Given the description of an element on the screen output the (x, y) to click on. 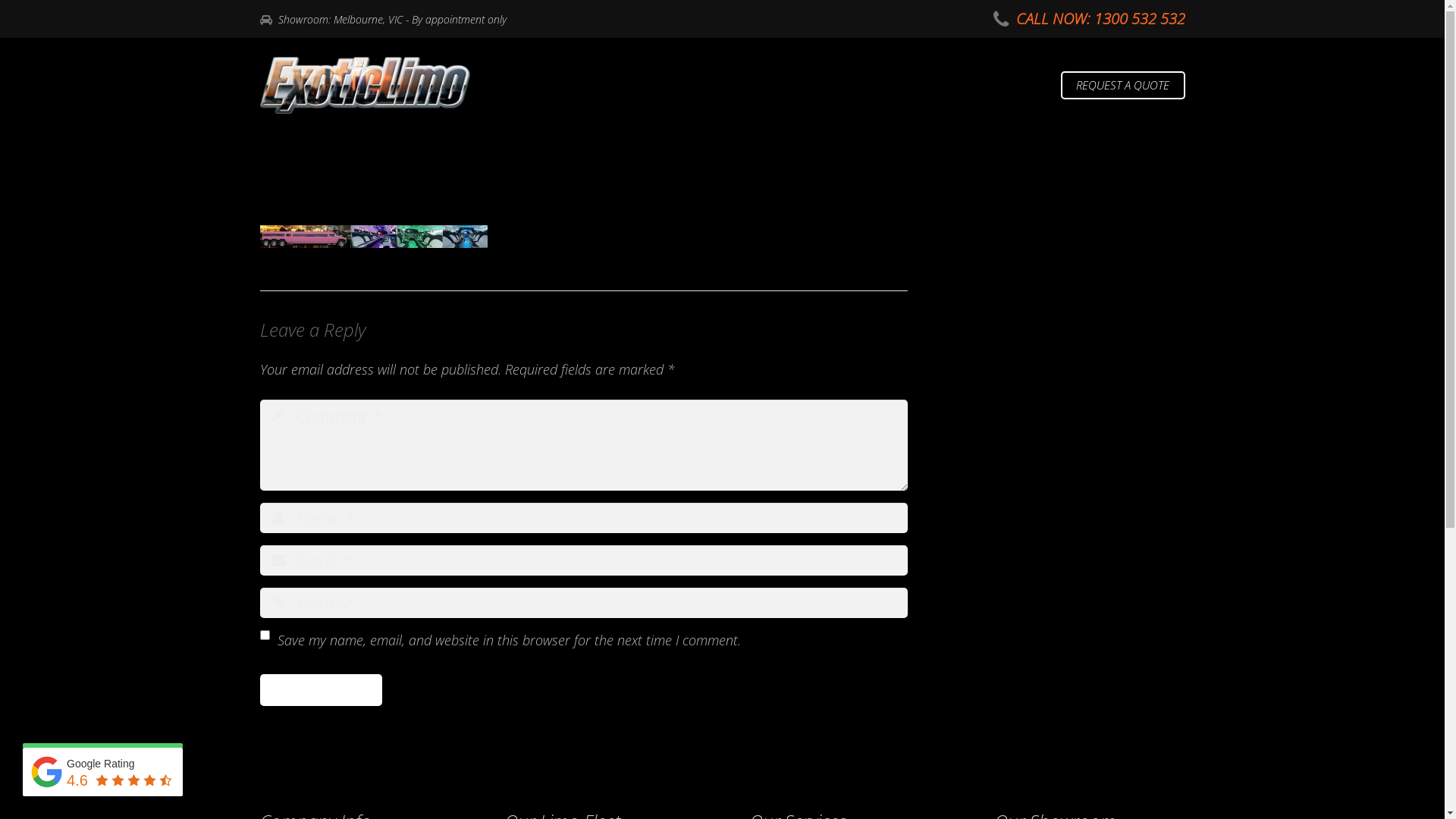
REQUEST A QUOTE Element type: text (1122, 85)
CALL NOW: 1300 532 532 Element type: text (1100, 18)
Post Comment Element type: text (320, 690)
